Given the description of an element on the screen output the (x, y) to click on. 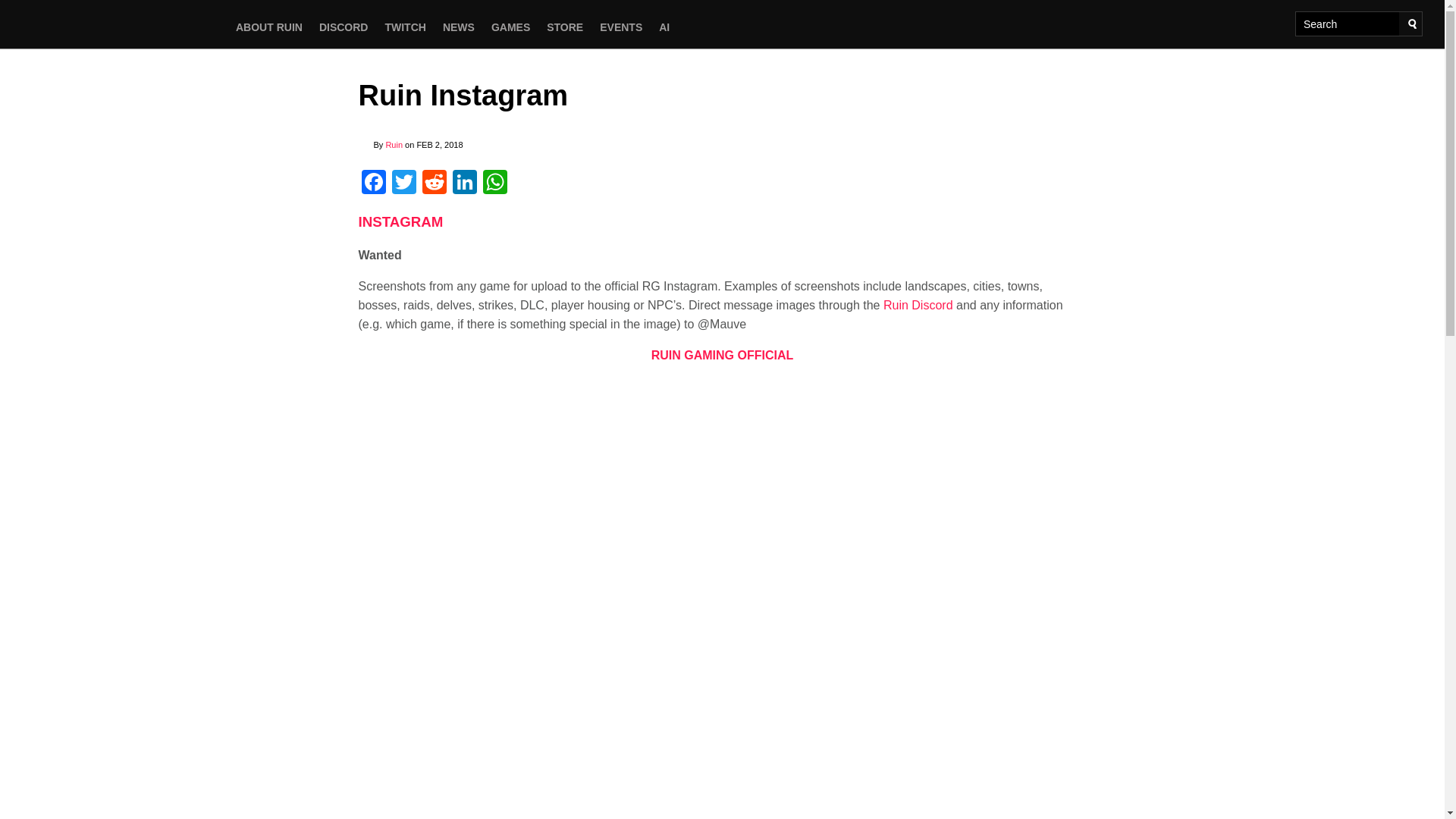
EVENTS (620, 26)
Ruin Discord (918, 305)
TWITCH (404, 26)
AI (664, 26)
Reddit (433, 183)
Search (1412, 24)
Facebook (373, 183)
Facebook (373, 183)
ABOUT RUIN (269, 26)
RUIN GAMING OFFICIAL (721, 354)
DISCORD (344, 26)
STORE (564, 26)
NEWS (458, 26)
INSTAGRAM (400, 221)
Search (1412, 24)
